Given the description of an element on the screen output the (x, y) to click on. 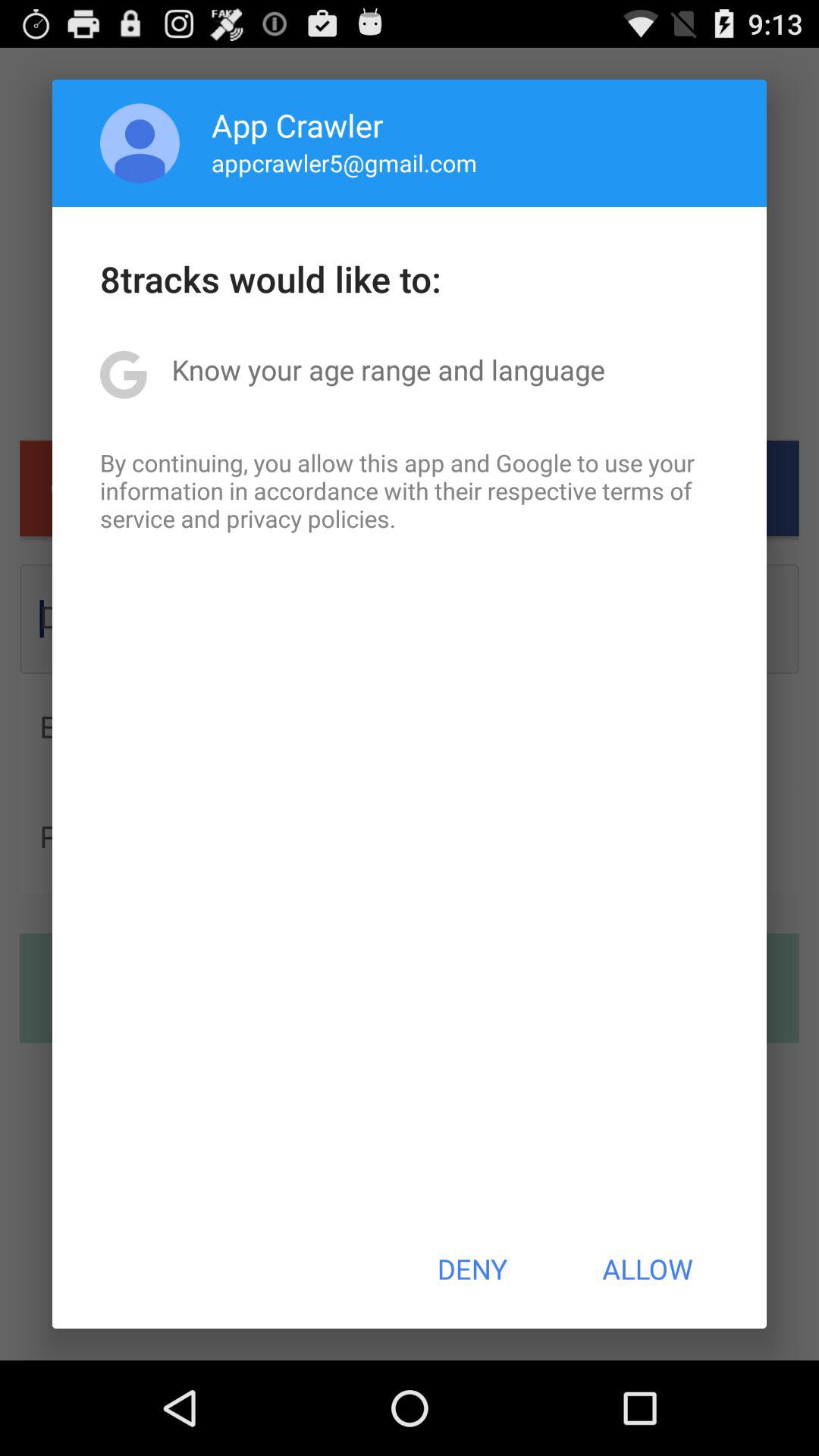
scroll until the deny (471, 1268)
